Given the description of an element on the screen output the (x, y) to click on. 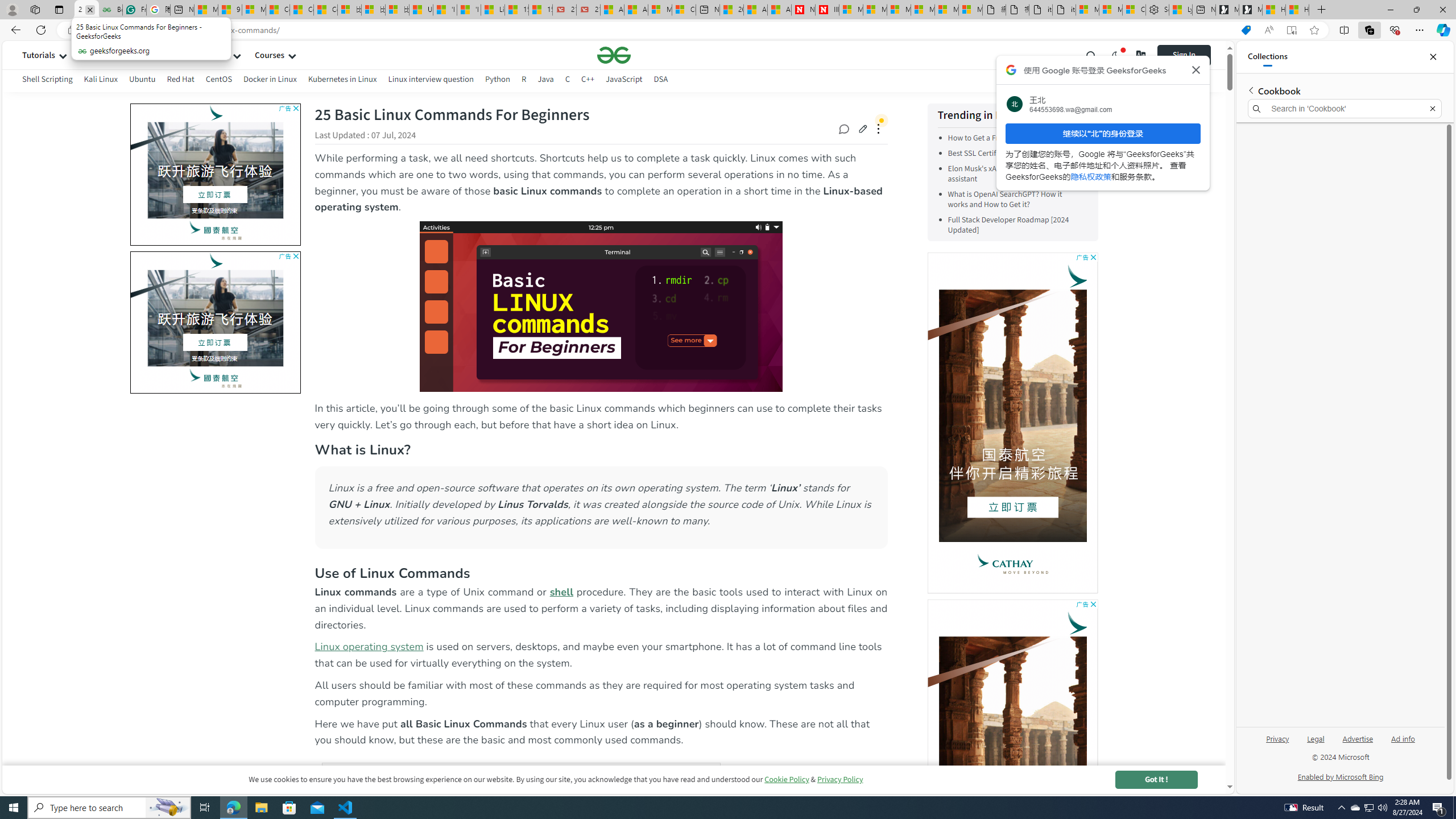
Privacy Policy (839, 779)
Ubuntu (142, 79)
R (523, 79)
C (567, 79)
CentOS (218, 79)
Full Stack Developer Roadmap [2024 Updated] (1007, 224)
Ad info (1402, 738)
AutomationID: bg5 (215, 317)
How to Get a Free SSL Certificate (1015, 137)
15 Ways Modern Life Contradicts the Teachings of Jesus (540, 9)
What is OpenAI SearchGPT? How it works and How to Get it? (1004, 199)
Microsoft Services Agreement (874, 9)
Linux interview question (430, 80)
